Given the description of an element on the screen output the (x, y) to click on. 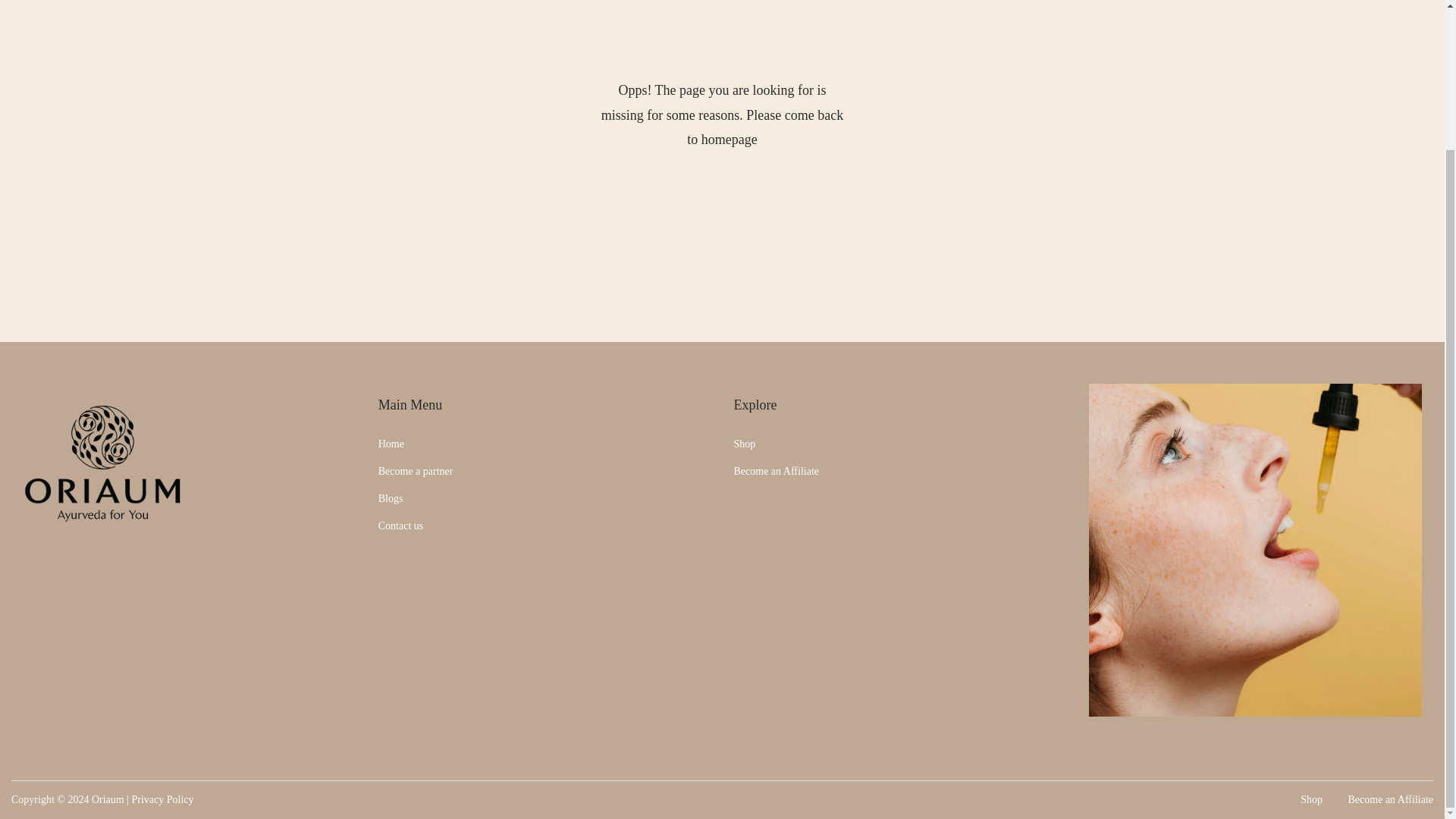
Shop (744, 443)
Privacy Policy (162, 799)
Home (391, 443)
Shop (1311, 799)
Contact us (400, 525)
Become a partner (415, 471)
Blogs (390, 498)
Become an Affiliate (1390, 799)
Become an Affiliate (775, 471)
